Given the description of an element on the screen output the (x, y) to click on. 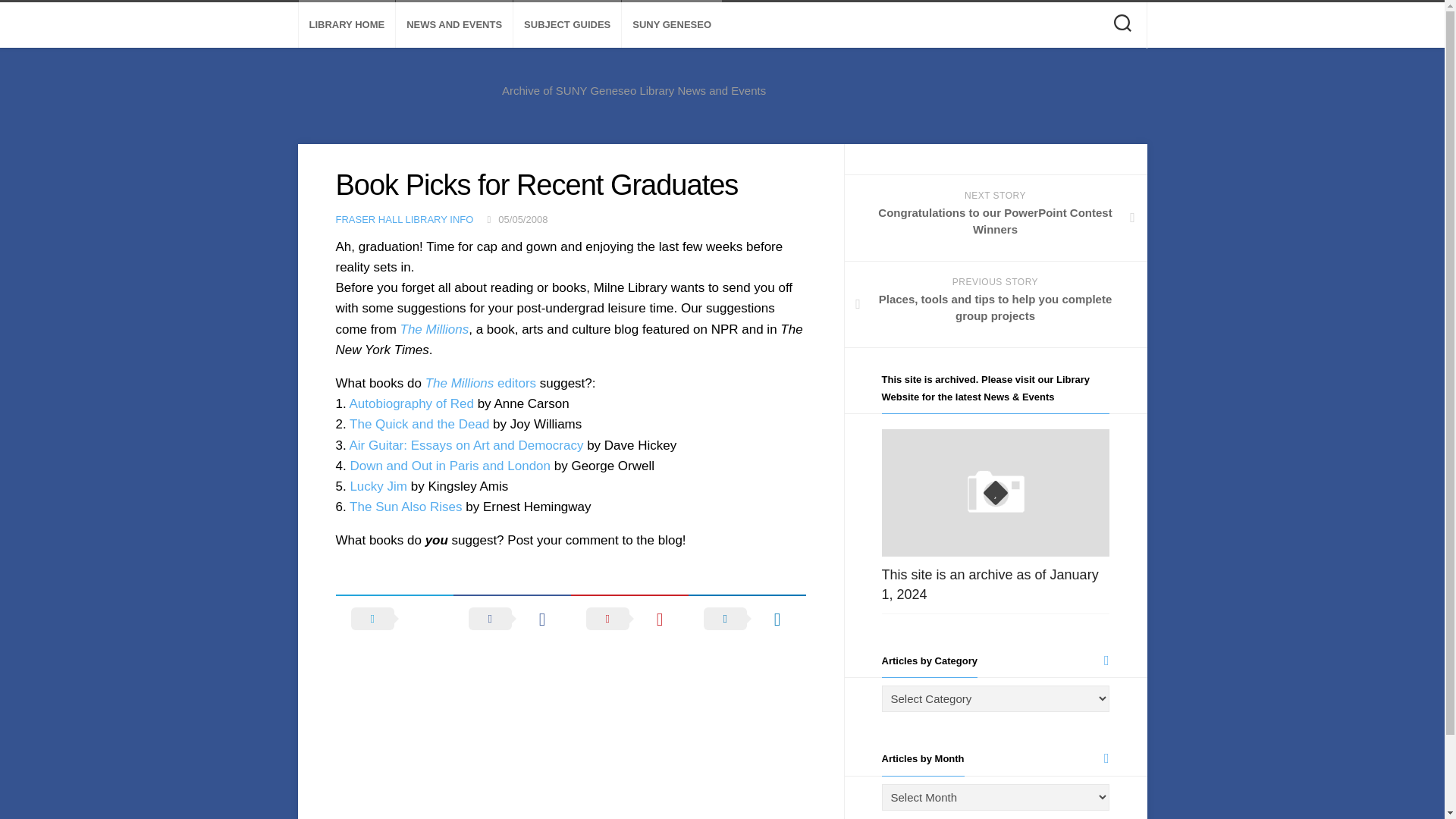
SUNY GENESEO (671, 24)
Lucky Jim (378, 486)
Share on Pinterest (628, 618)
This site is an archive as of January 1, 2024 (988, 584)
The Sun Also Rises (405, 506)
Share on X (393, 618)
The Quick and the Dead (421, 423)
SUBJECT GUIDES (567, 24)
LIBRARY HOME (346, 24)
